Given the description of an element on the screen output the (x, y) to click on. 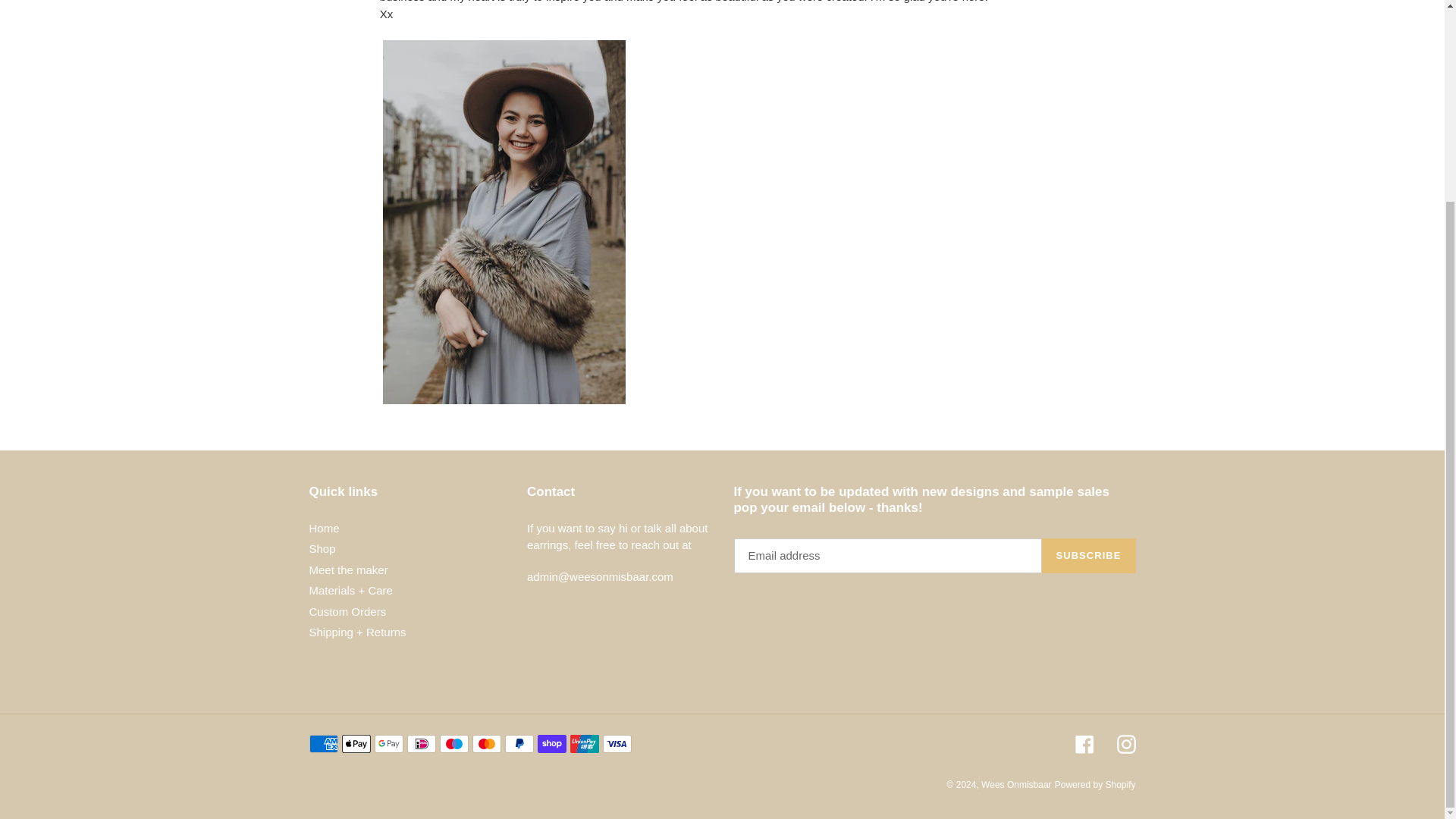
Meet the maker (348, 569)
Custom Orders (347, 611)
SUBSCRIBE (1088, 555)
Facebook (1084, 743)
Home (323, 527)
Instagram (1125, 743)
Shop (322, 548)
Powered by Shopify (1094, 784)
Wees Onmisbaar (1016, 784)
